Given the description of an element on the screen output the (x, y) to click on. 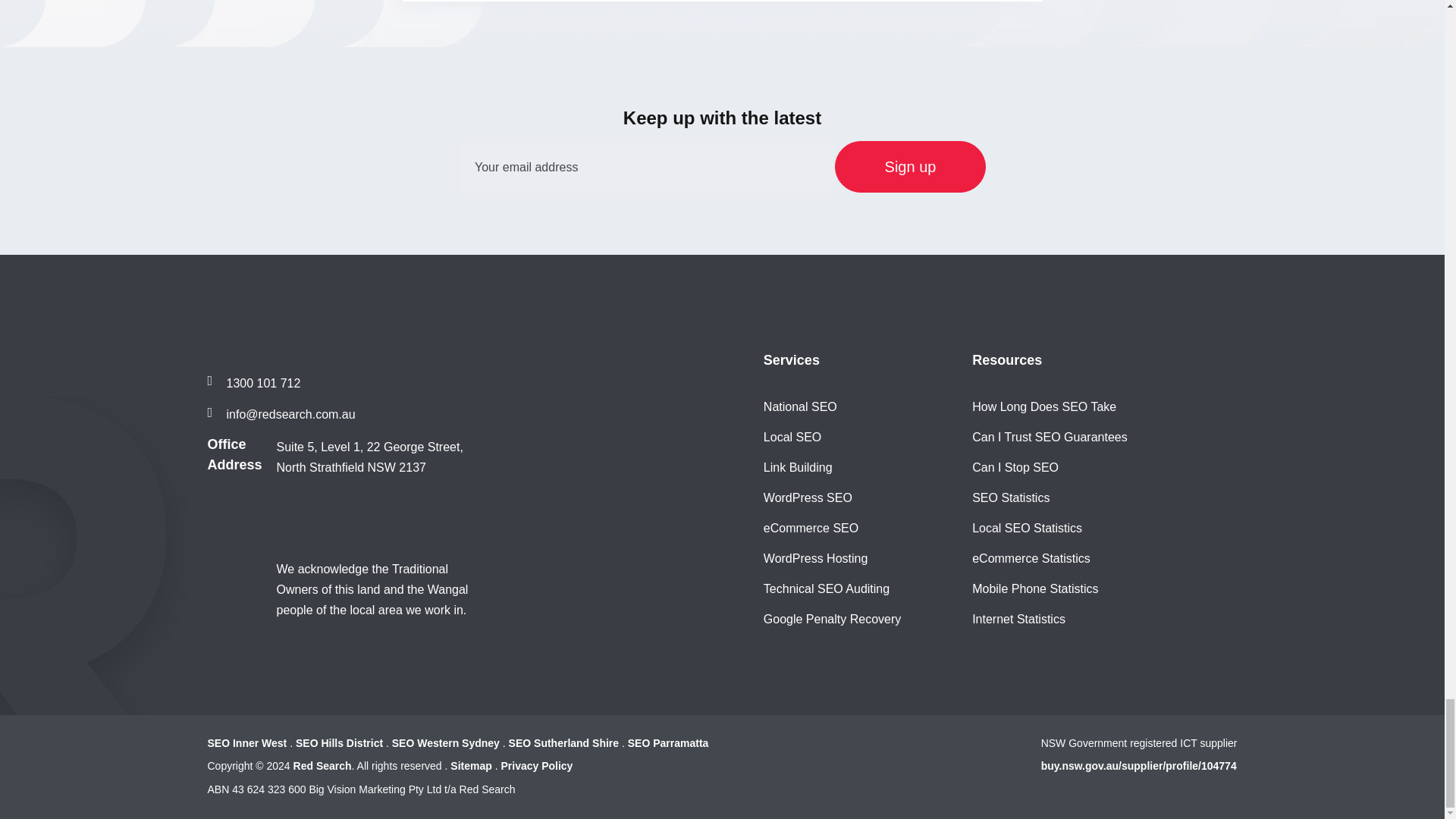
Resources (1007, 360)
Services (790, 360)
Call Us on 1300 101 712 (254, 383)
Sign up (909, 166)
